Given the description of an element on the screen output the (x, y) to click on. 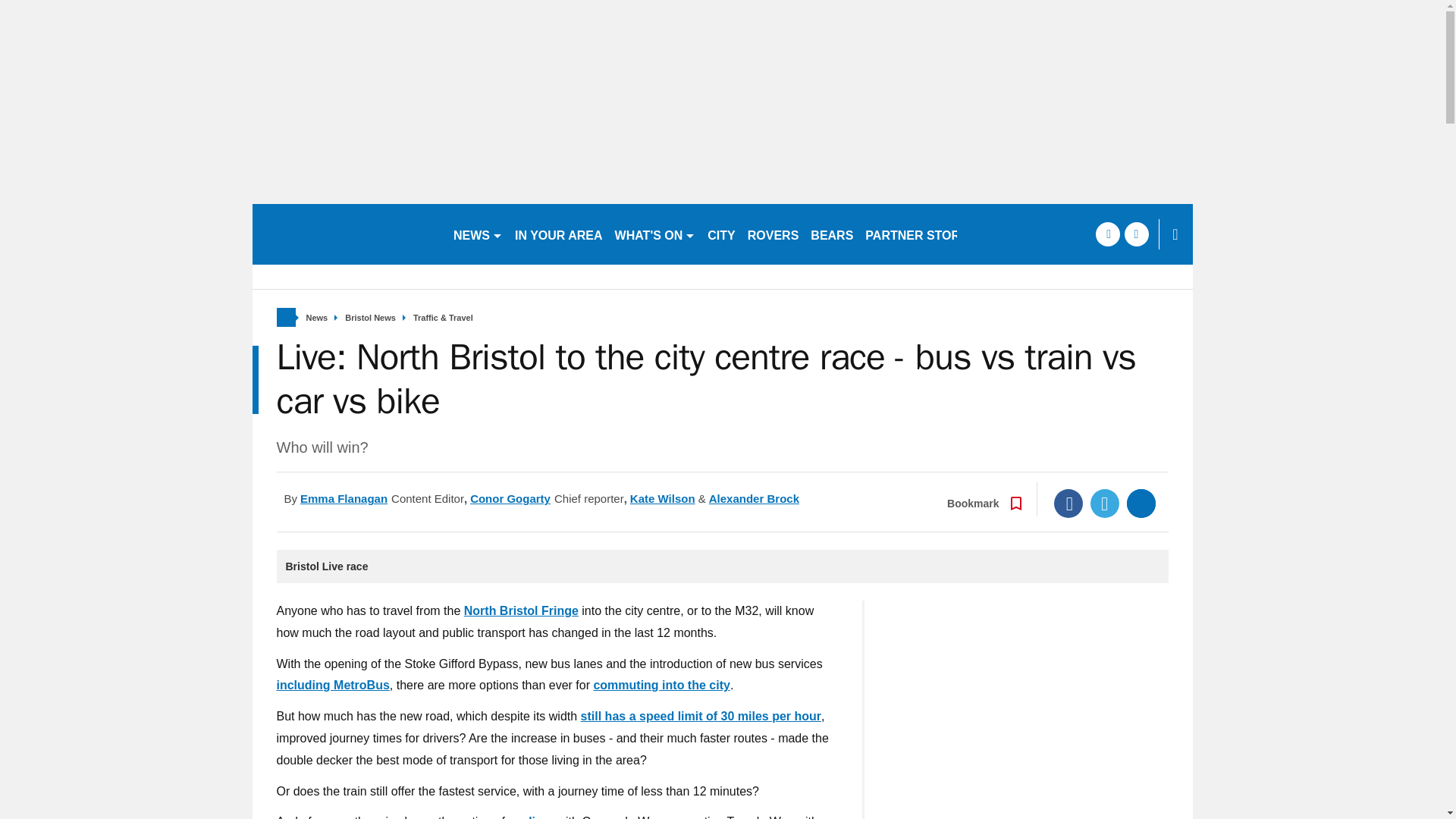
facebook (1106, 233)
PARTNER STORIES (922, 233)
Facebook (1068, 502)
WHAT'S ON (654, 233)
BEARS (832, 233)
NEWS (477, 233)
twitter (1136, 233)
ROVERS (773, 233)
bristolpost (345, 233)
Twitter (1104, 502)
